Given the description of an element on the screen output the (x, y) to click on. 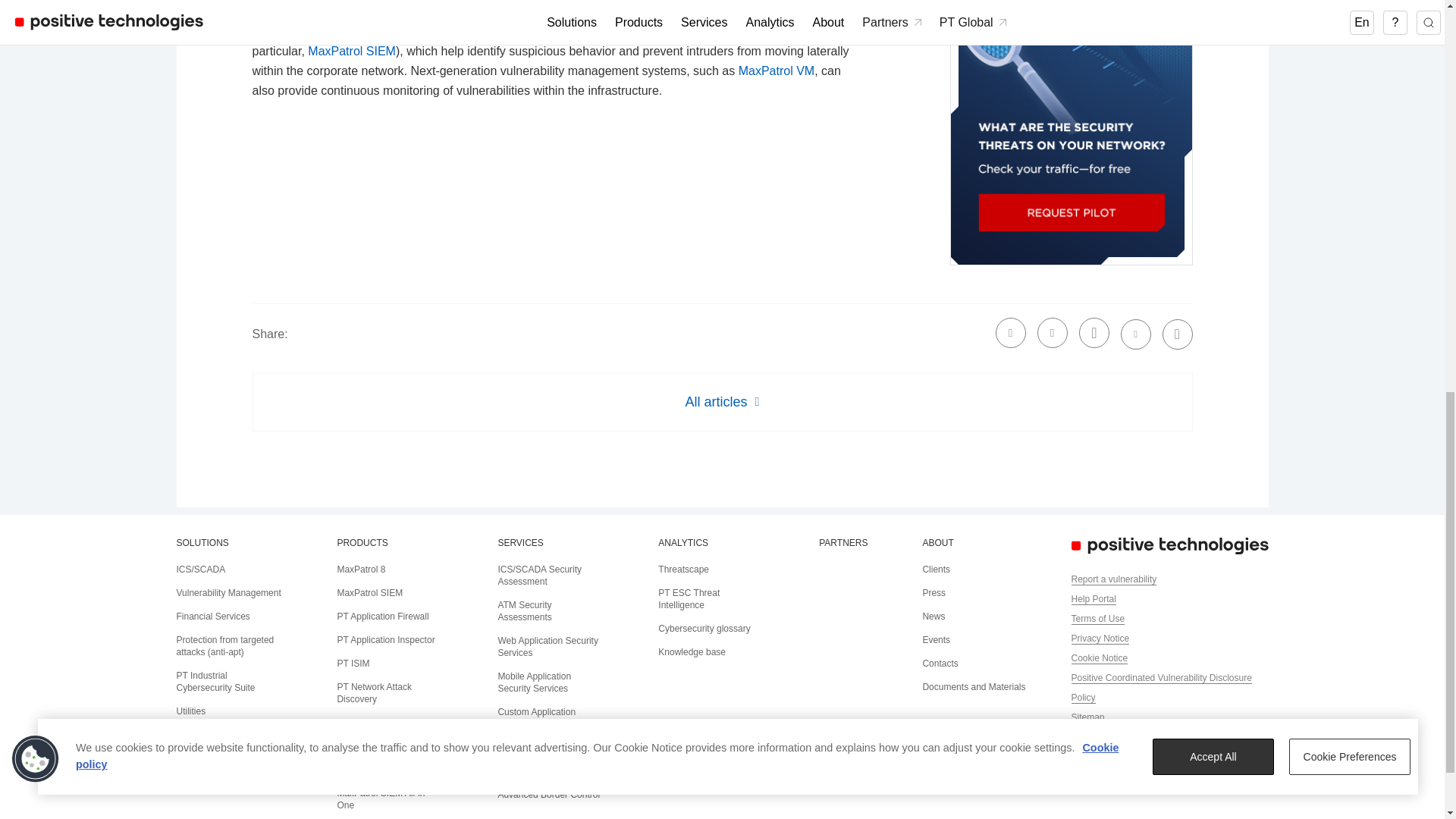
Copy Link (1176, 334)
PT Application Firewall (382, 615)
PT ISIM (352, 663)
MaxPatrol SIEM (369, 593)
PRODUCTS (361, 542)
PT Network Attack Discovery (636, 11)
PT Industrial Cybersecurity Suite (215, 681)
ERP Security (203, 734)
Security Compliance (217, 757)
PT Application Inspector (384, 639)
All articles (721, 401)
Email (1136, 334)
Utilities (190, 710)
reddit (1093, 332)
MaxPatrol 8 (360, 569)
